Given the description of an element on the screen output the (x, y) to click on. 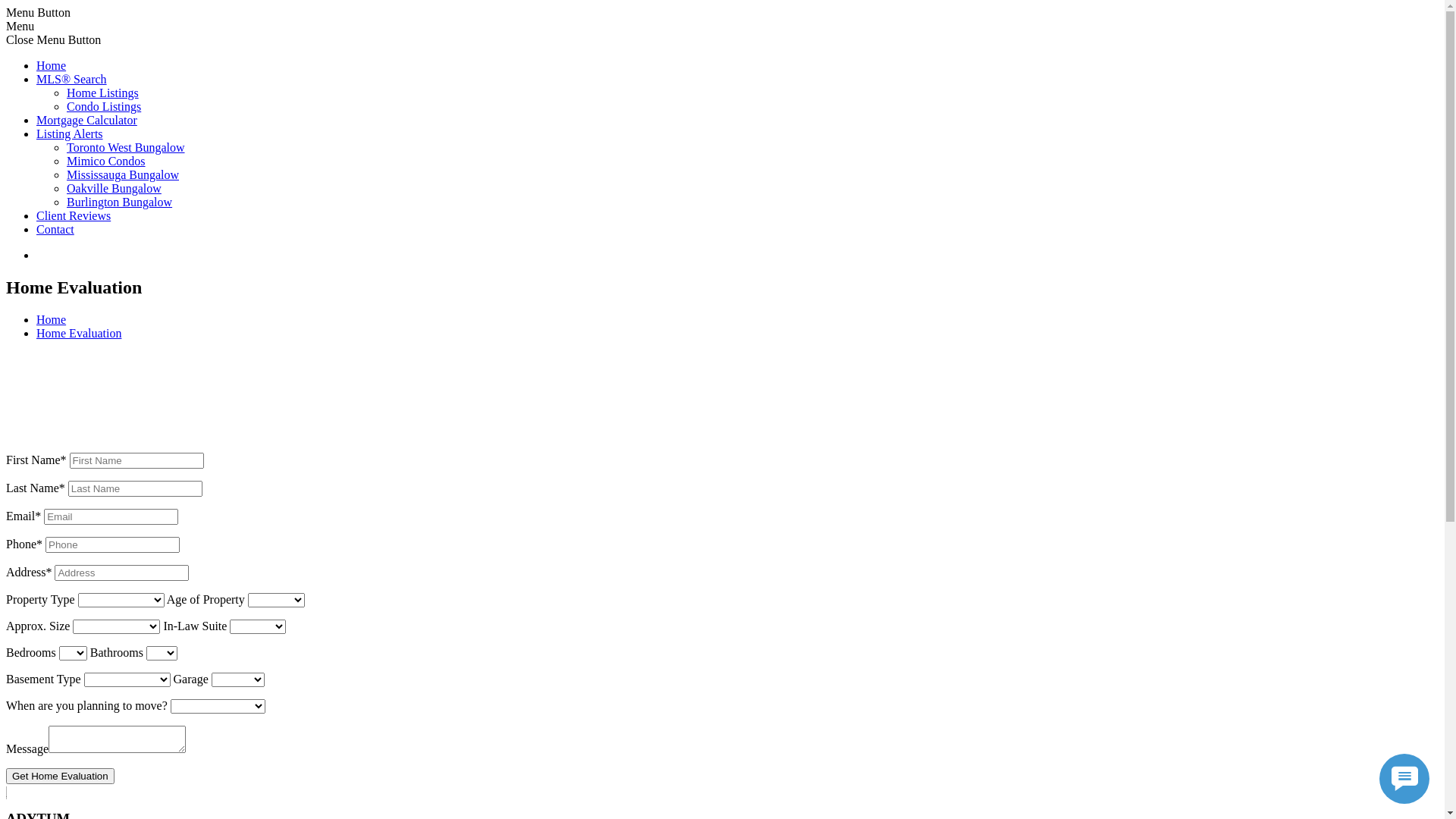
Home Evaluation Element type: text (78, 332)
Client Reviews Element type: text (73, 215)
Get Home Evaluation Element type: text (60, 776)
Oakville Bungalow Element type: text (113, 188)
Live Chat Element type: hover (1404, 778)
Contact Element type: text (55, 228)
Listing Alerts Element type: text (69, 133)
Home Element type: text (50, 65)
Burlington Bungalow Element type: text (119, 201)
Condo Listings Element type: text (103, 106)
Home Listings Element type: text (102, 92)
Home Element type: text (50, 319)
Toronto West Bungalow Element type: text (125, 147)
Mimico Condos Element type: text (105, 160)
Mississauga Bungalow Element type: text (122, 174)
Mortgage Calculator Element type: text (86, 119)
